Given the description of an element on the screen output the (x, y) to click on. 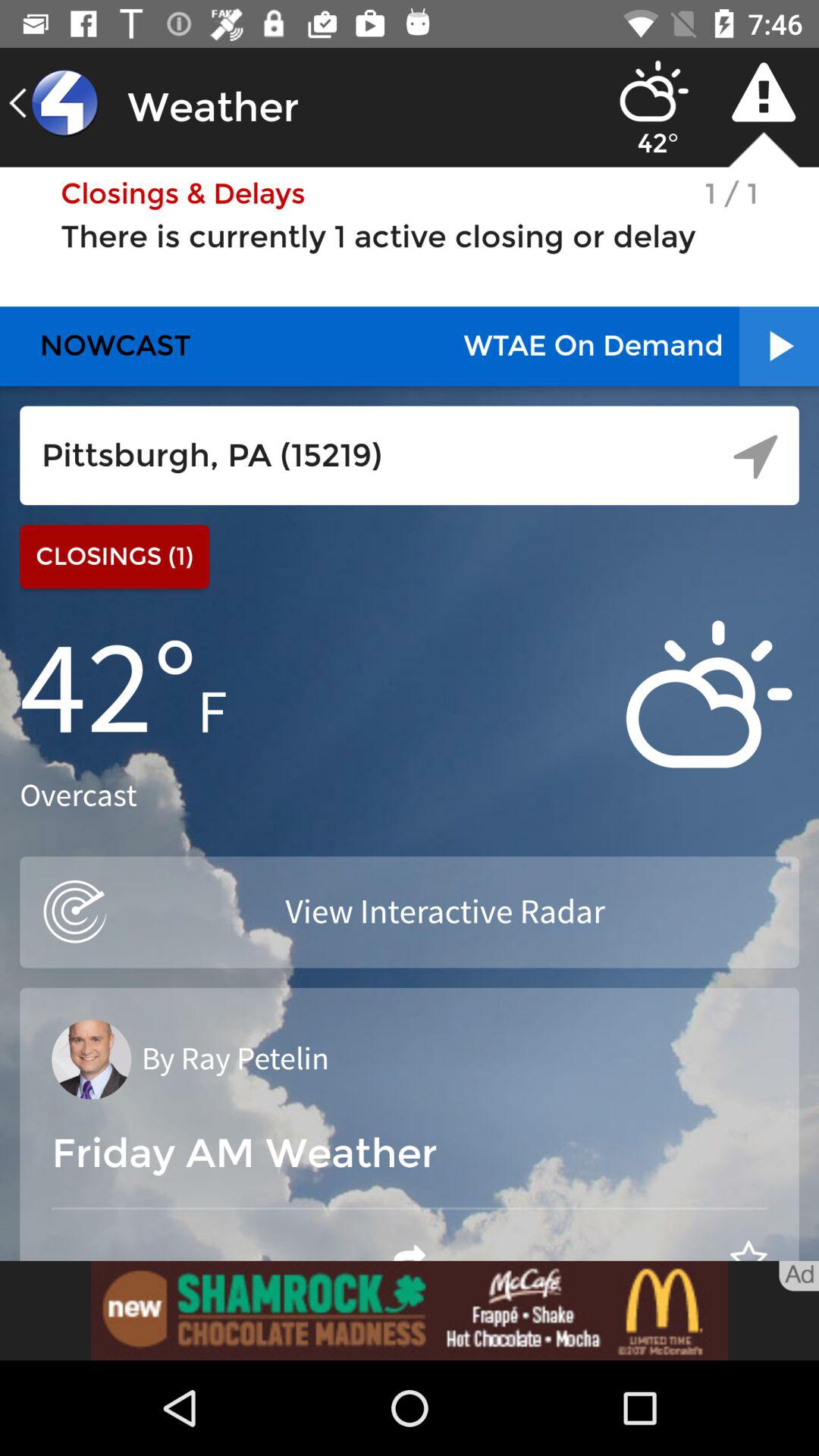
go to advertisement link (409, 1310)
